Given the description of an element on the screen output the (x, y) to click on. 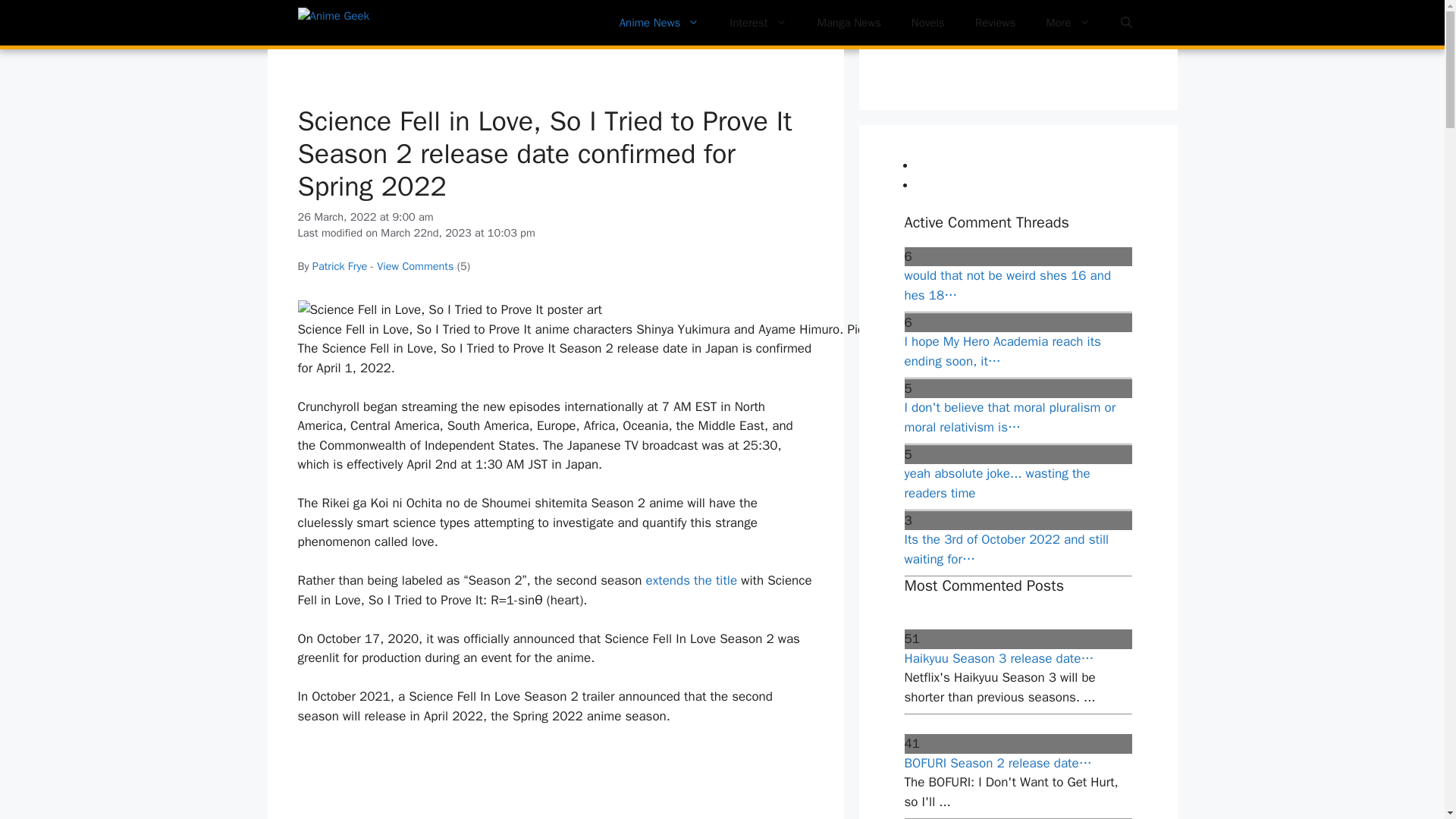
More (1067, 22)
Anime News (659, 22)
View all posts by Patrick Frye (339, 265)
Novels (927, 22)
Patrick Frye (339, 265)
Interest (758, 22)
Anime Geek (372, 22)
Reviews (994, 22)
extends the title (692, 580)
View Comments (414, 265)
Manga News (849, 22)
